Given the description of an element on the screen output the (x, y) to click on. 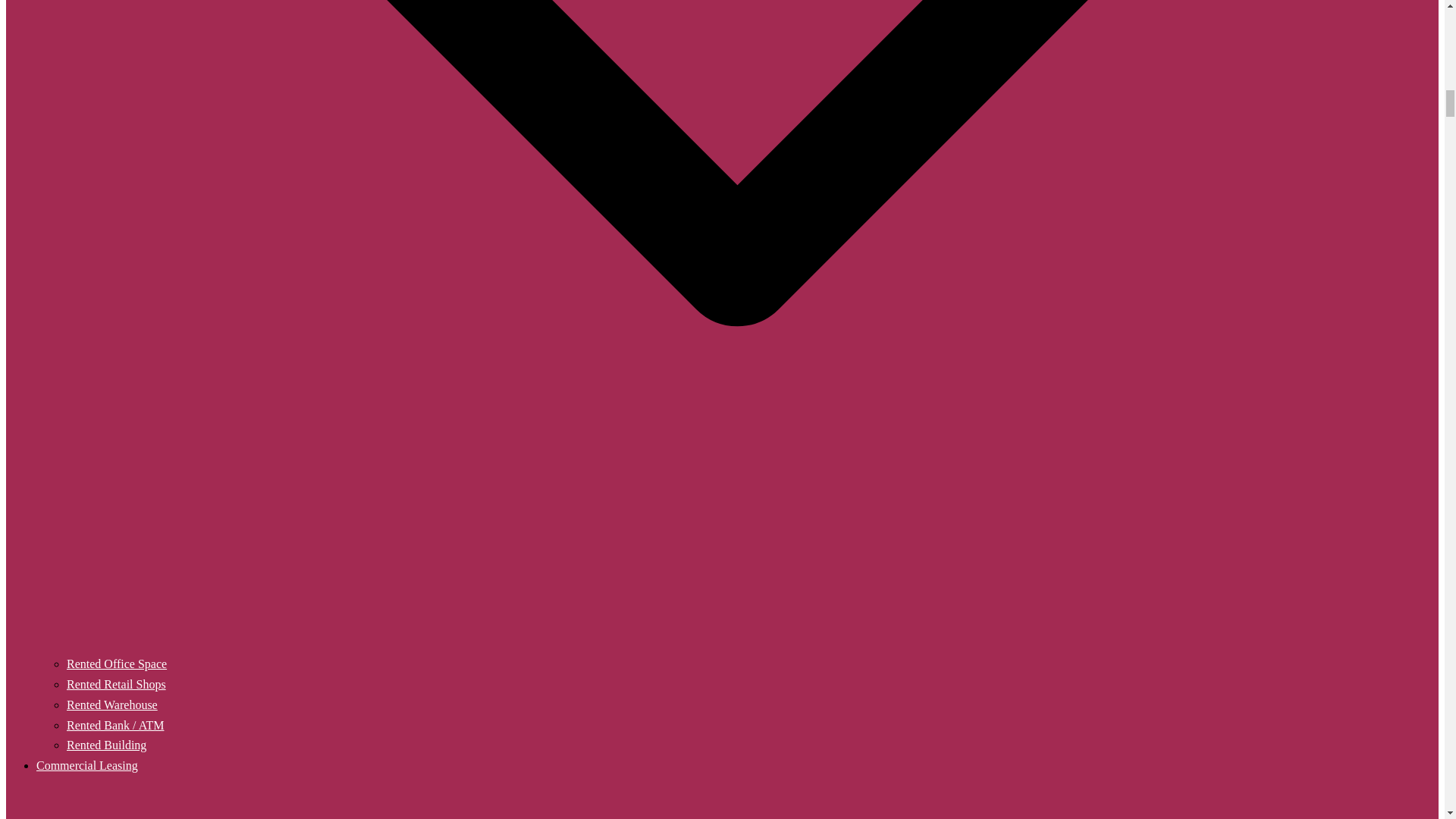
Rented Office Space (116, 663)
Rented Building (106, 744)
Commercial Leasing (87, 765)
Rented Retail Shops (115, 684)
Rented Warehouse (111, 704)
